Given the description of an element on the screen output the (x, y) to click on. 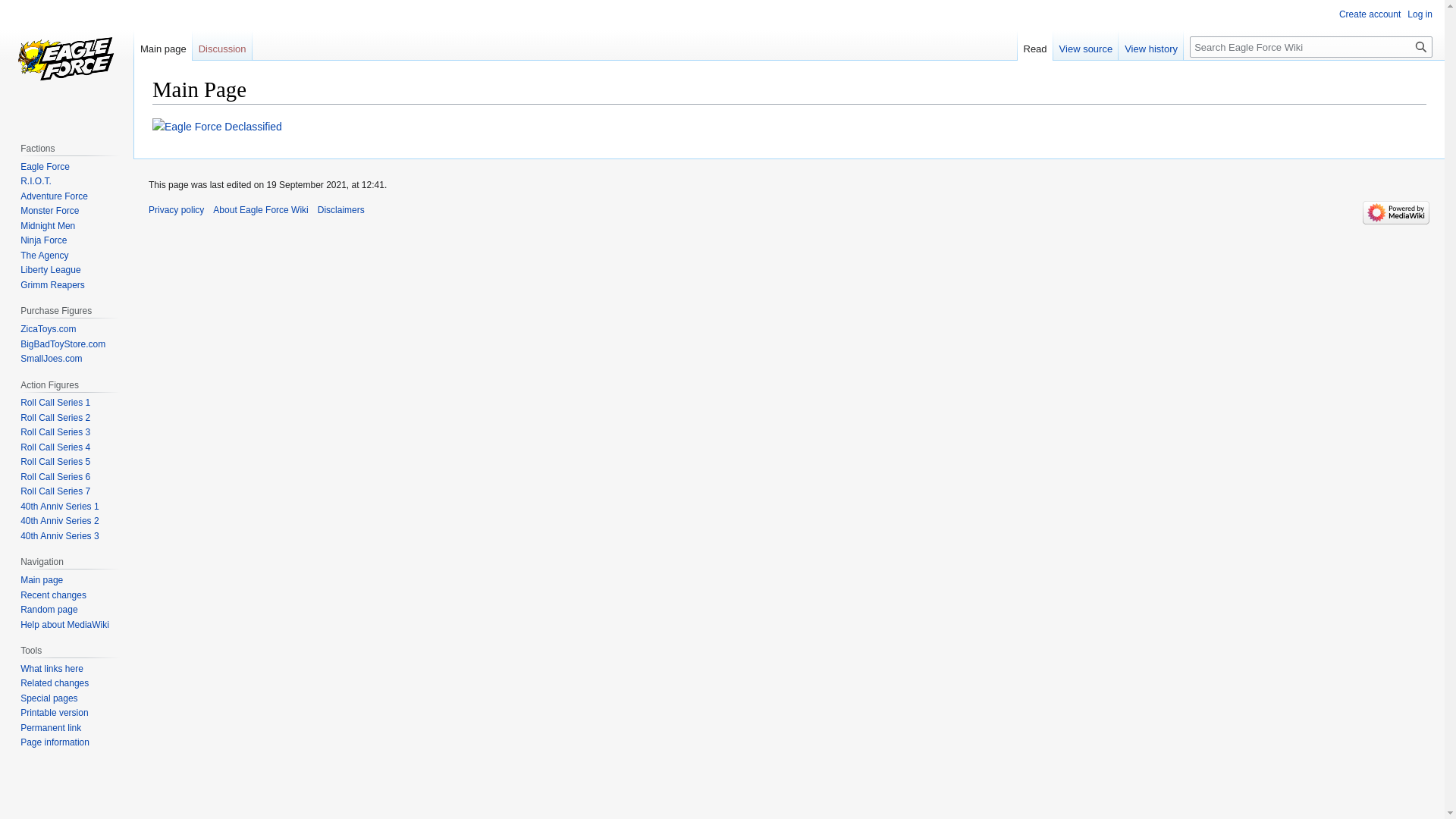
Roll Call Series 3 Element type: text (55, 431)
Privacy policy Element type: text (175, 209)
Read Element type: text (1035, 45)
What links here Element type: text (51, 668)
Grimm Reapers Element type: text (52, 284)
Midnight Men Element type: text (47, 225)
Search Element type: text (1420, 46)
Roll Call Series 1 Element type: text (55, 402)
Random page Element type: text (48, 609)
Main page Element type: text (163, 45)
SmallJoes.com Element type: text (50, 358)
View source Element type: text (1086, 45)
40th Anniv Series 3 Element type: text (59, 535)
Eagle Force Element type: text (44, 166)
Roll Call Series 5 Element type: text (55, 461)
Page information Element type: text (54, 742)
About Eagle Force Wiki Element type: text (260, 209)
Printable version Element type: text (53, 712)
Discussion Element type: text (222, 45)
Monster Force Element type: text (49, 210)
Roll Call Series 4 Element type: text (55, 447)
R.I.O.T. Element type: text (35, 180)
Search Eagle Force Wiki [alt-shift-f] Element type: hover (1310, 46)
BigBadToyStore.com Element type: text (62, 343)
Permanent link Element type: text (50, 727)
Log in Element type: text (1419, 14)
The Agency Element type: text (44, 255)
Search the pages for this text Element type: hover (1420, 46)
Jump to navigation Element type: text (151, 116)
Create account Element type: text (1369, 14)
Roll Call Series 6 Element type: text (55, 476)
Roll Call Series 2 Element type: text (55, 417)
View history Element type: text (1150, 45)
Roll Call Series 7 Element type: text (55, 491)
40th Anniv Series 2 Element type: text (59, 520)
Recent changes Element type: text (53, 594)
Liberty League Element type: text (50, 269)
Special pages Element type: text (48, 698)
40th Anniv Series 1 Element type: text (59, 506)
Ninja Force Element type: text (43, 240)
Related changes Element type: text (54, 682)
ZicaToys.com Element type: text (47, 328)
Visit the main page Element type: hover (66, 60)
Adventure Force Element type: text (53, 196)
Help about MediaWiki Element type: text (64, 624)
Disclaimers Element type: text (340, 209)
Main page Element type: text (41, 579)
